Given the description of an element on the screen output the (x, y) to click on. 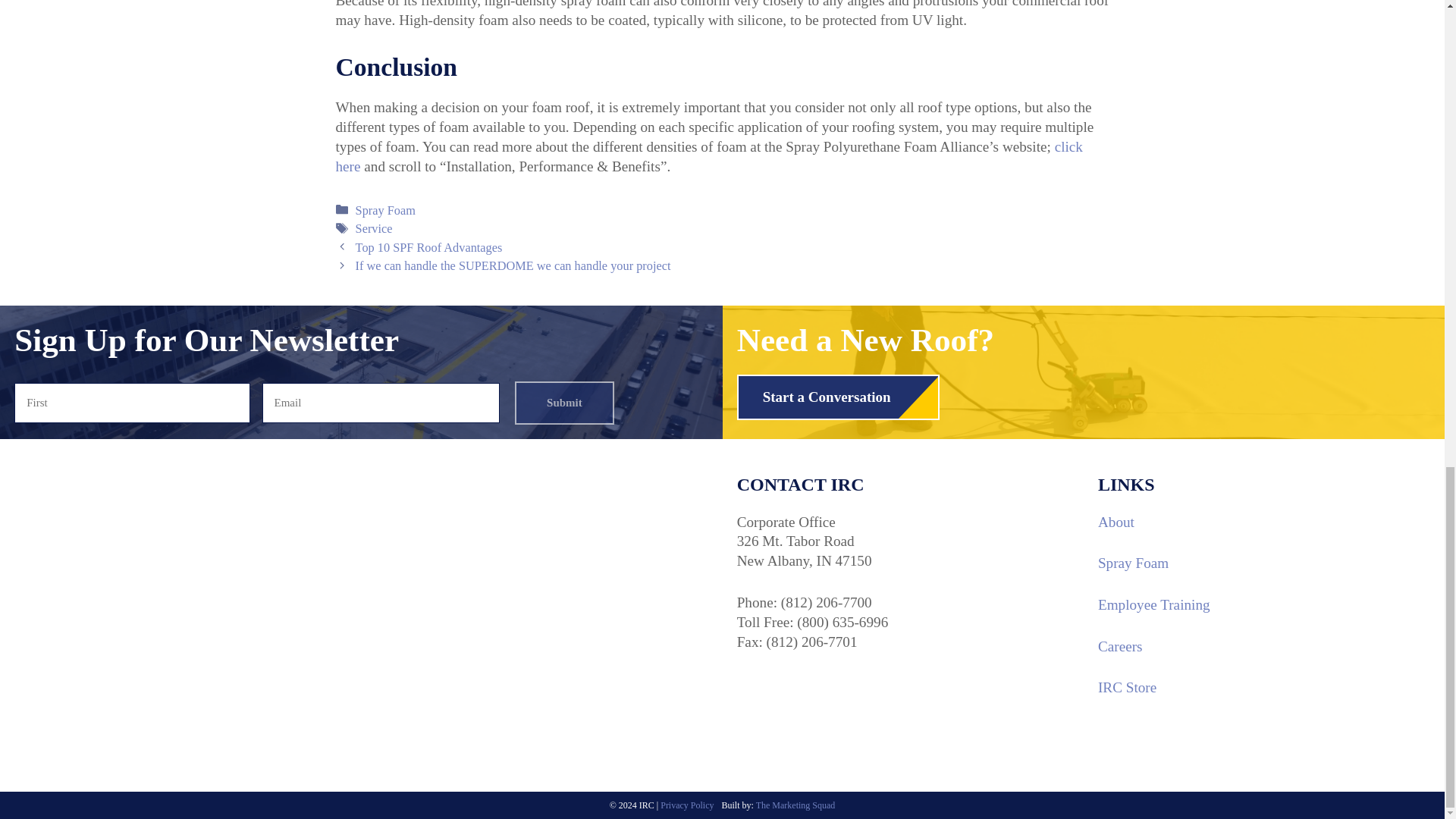
Submit (564, 403)
Start a Conversation (837, 397)
Spray Foam (384, 210)
If we can handle the SUPERDOME we can handle your project (513, 265)
Top 10 SPF Roof Advantages (428, 247)
About (1115, 521)
Submit (564, 403)
click here (707, 156)
Scroll back to top (1406, 444)
Service (374, 228)
